Given the description of an element on the screen output the (x, y) to click on. 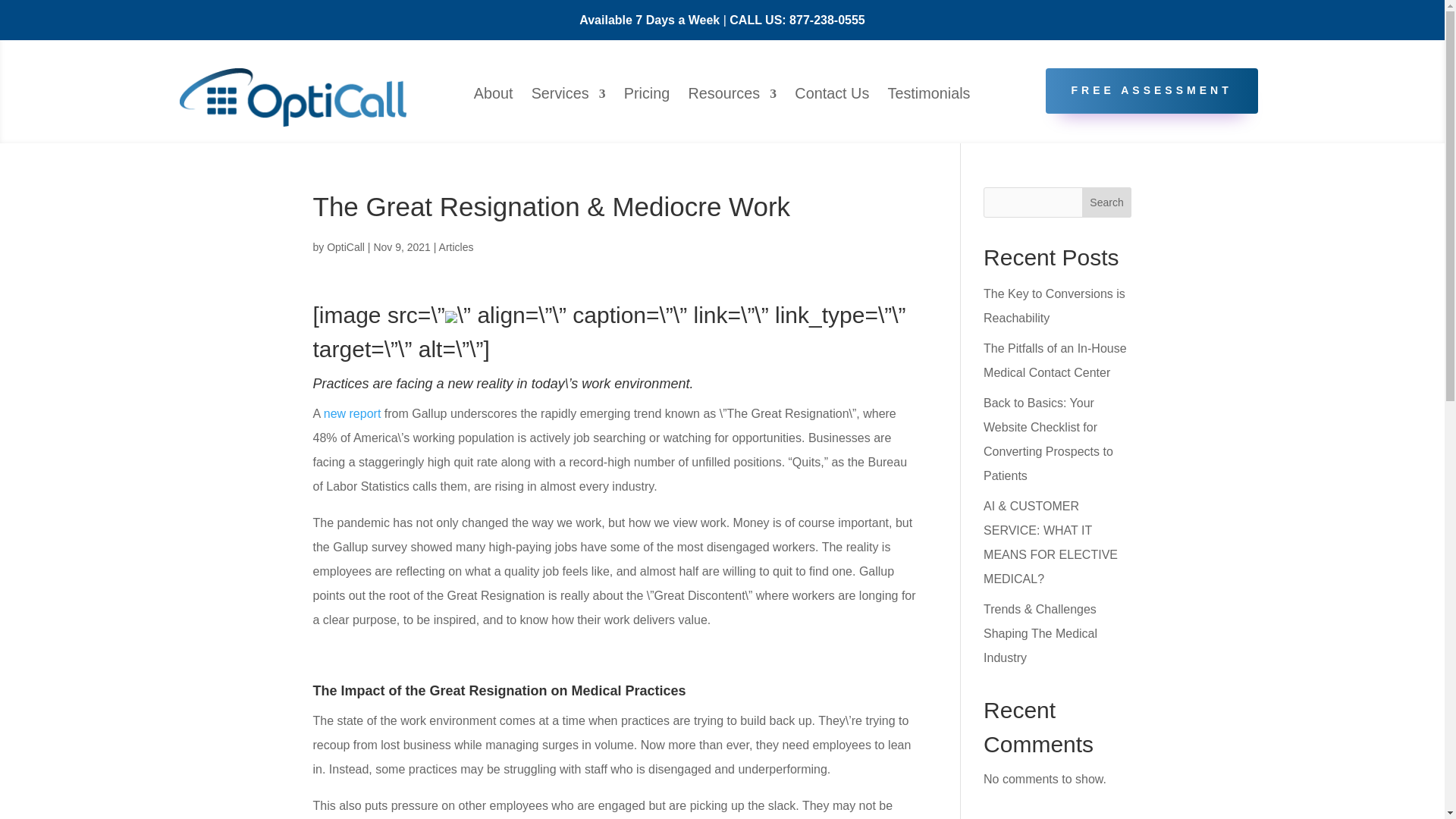
Posts by OptiCall (345, 246)
877-238-0555 (826, 19)
Contact Us (828, 95)
About (491, 95)
Testimonials (925, 95)
Services (564, 95)
Pricing (644, 95)
Resources (728, 95)
FREE ASSESSMENT (1151, 90)
